Given the description of an element on the screen output the (x, y) to click on. 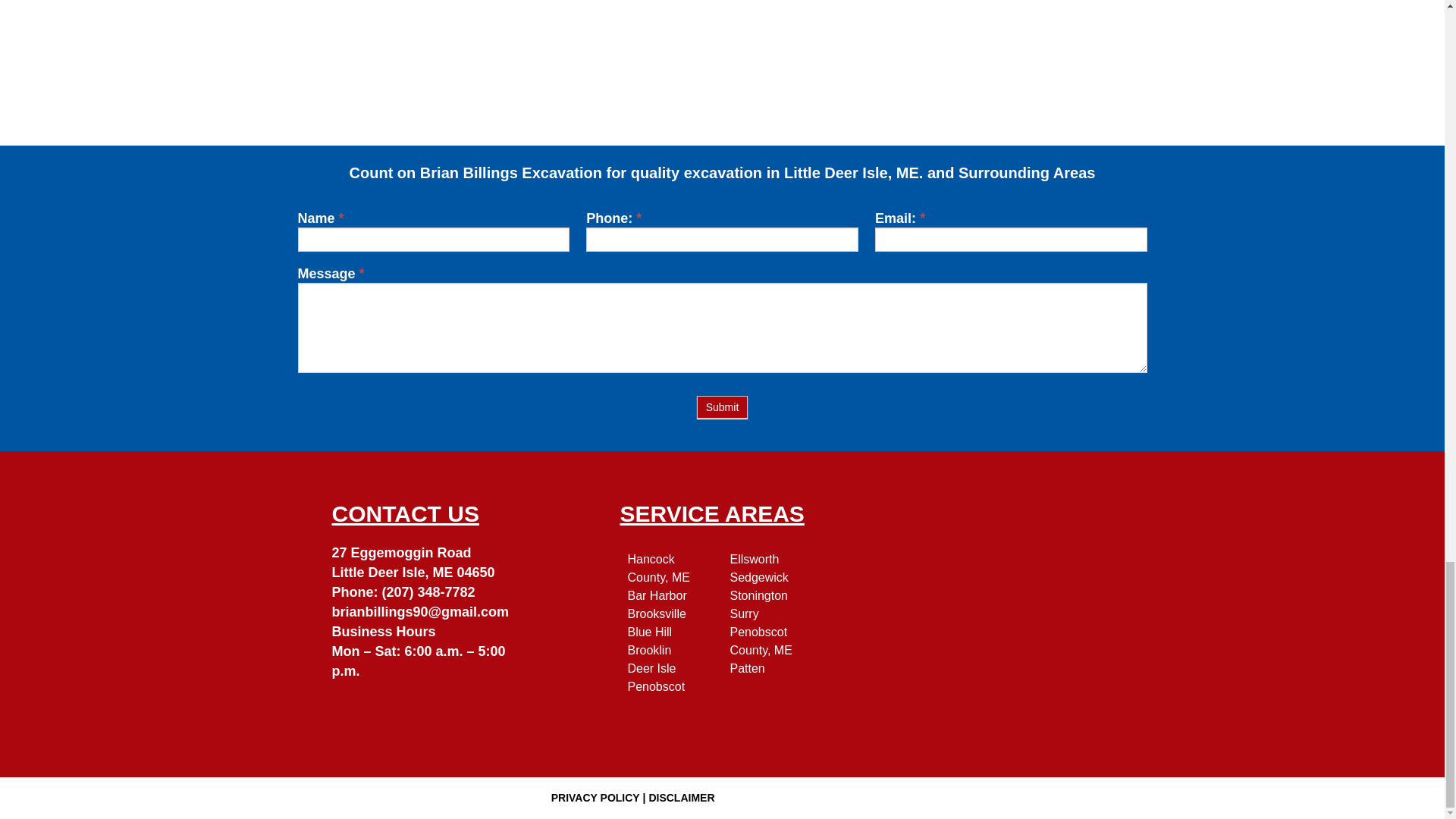
27 Eggemoggin Road Little Deer Isle, ME  (1009, 614)
Submit (722, 406)
